Given the description of an element on the screen output the (x, y) to click on. 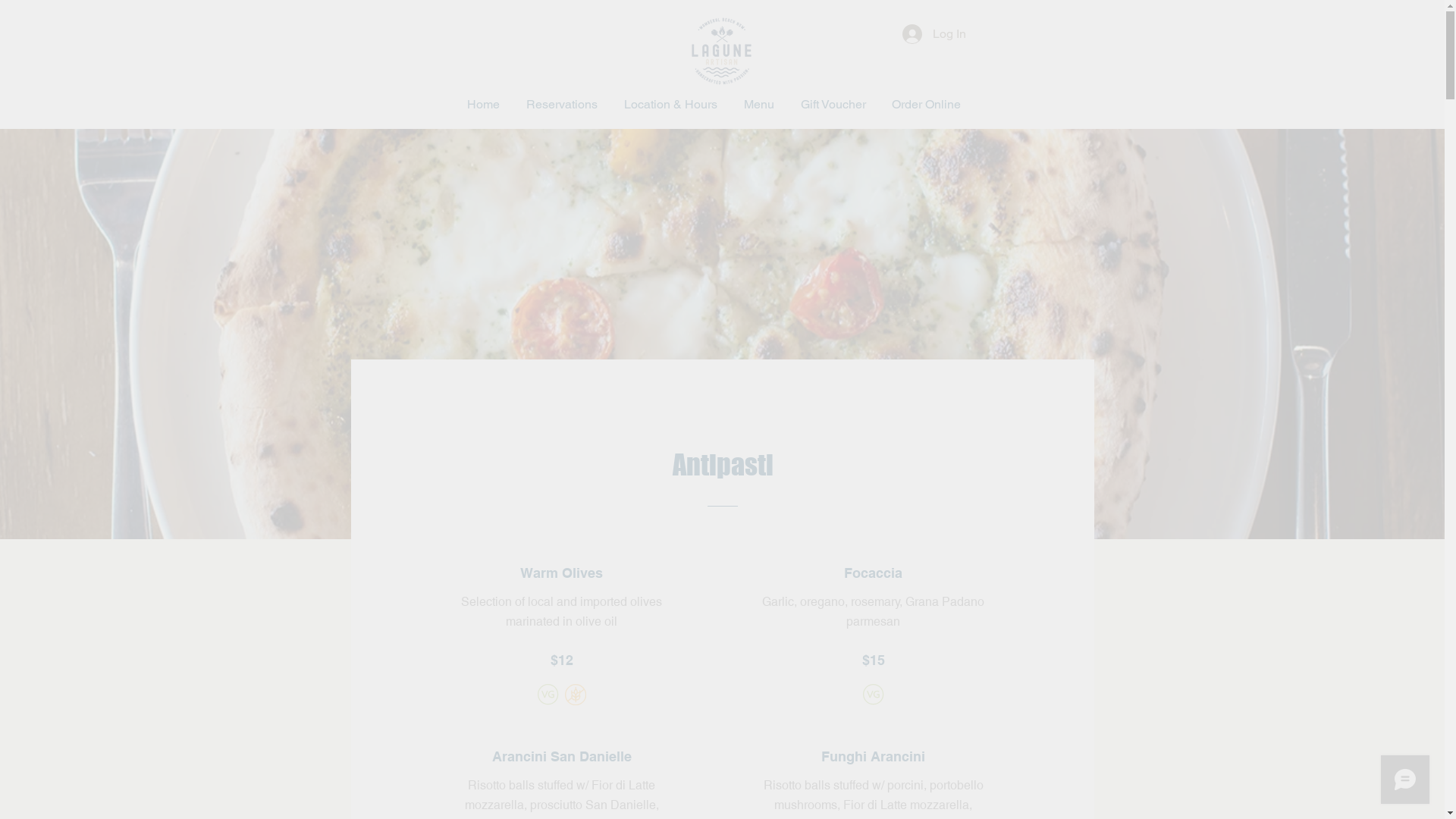
Location & Hours Element type: text (671, 103)
Home Element type: text (482, 103)
Mesa de trabajo 5.png Element type: hover (720, 50)
Order Online Element type: text (925, 103)
Log In Element type: text (933, 33)
Menu Element type: text (759, 103)
Reservations Element type: text (561, 103)
Gift Voucher Element type: text (832, 103)
